Given the description of an element on the screen output the (x, y) to click on. 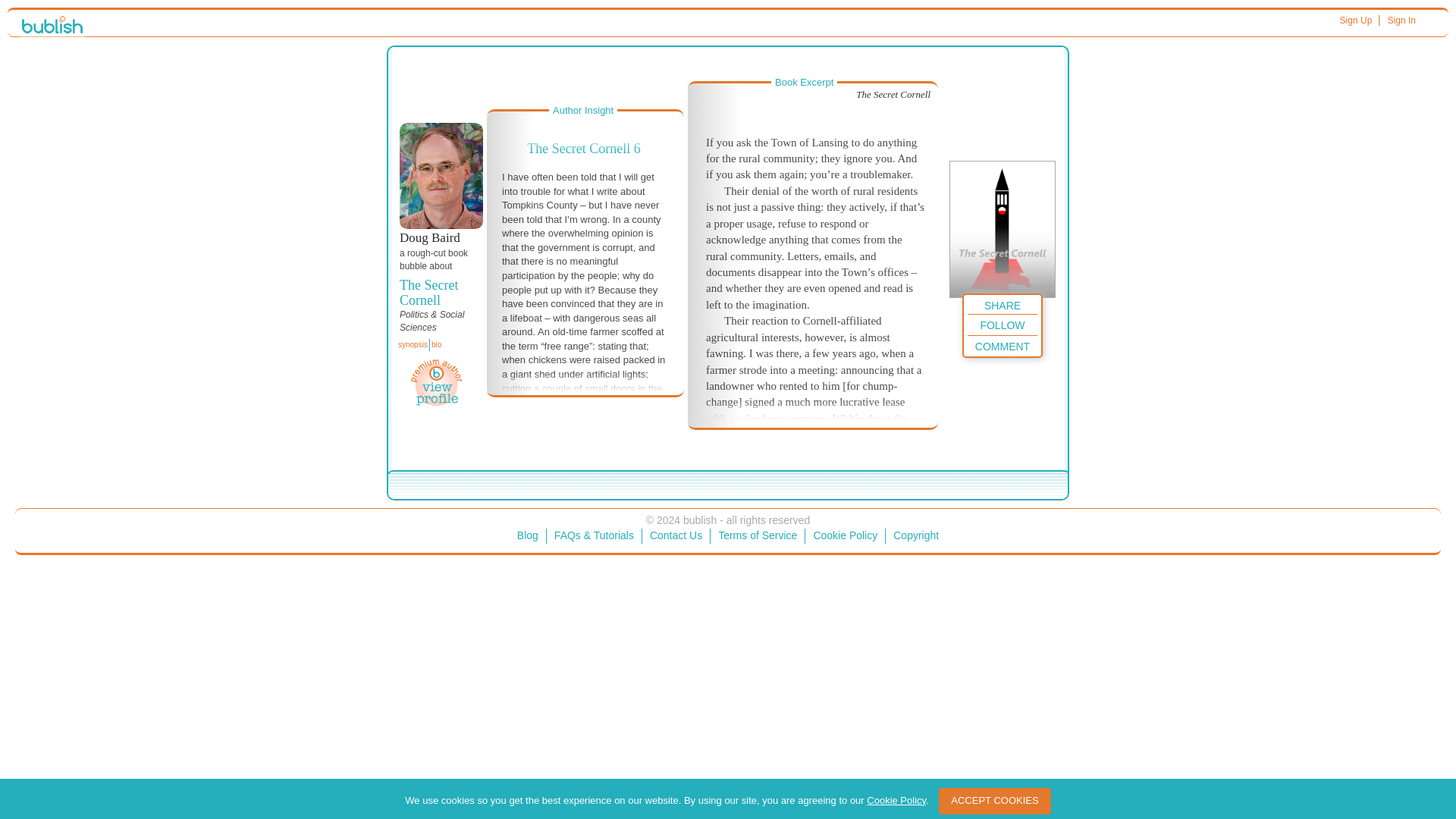
bio (435, 345)
Terms of Service (757, 535)
Blog (528, 535)
Cookie Policy (845, 535)
Sign In (1401, 20)
synopsis (412, 345)
FOLLOW (1002, 323)
COMMENT (1002, 344)
SHARE (1002, 303)
Contact Us (676, 535)
